Given the description of an element on the screen output the (x, y) to click on. 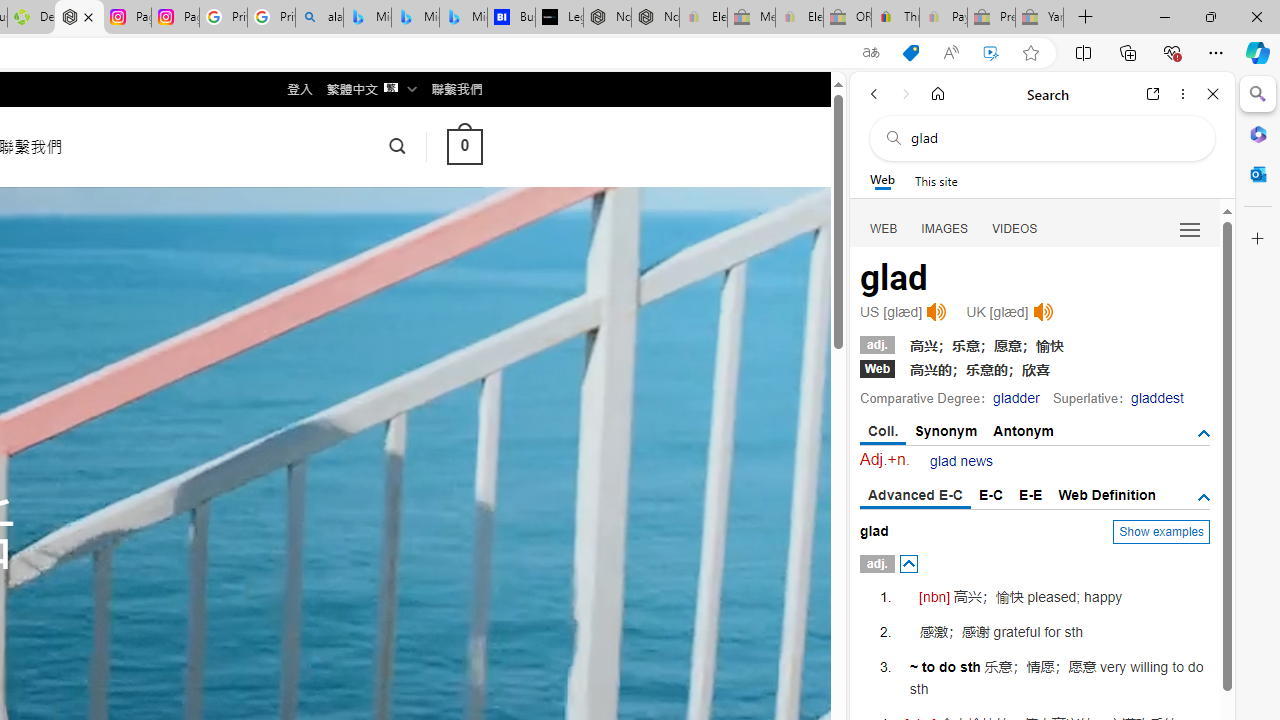
Web Definition (1106, 494)
Microsoft Bing Travel - Shangri-La Hotel Bangkok (463, 17)
AutomationID: tgdef (1203, 497)
gladdest (1157, 398)
 0  (464, 146)
WEB (884, 228)
